Given the description of an element on the screen output the (x, y) to click on. 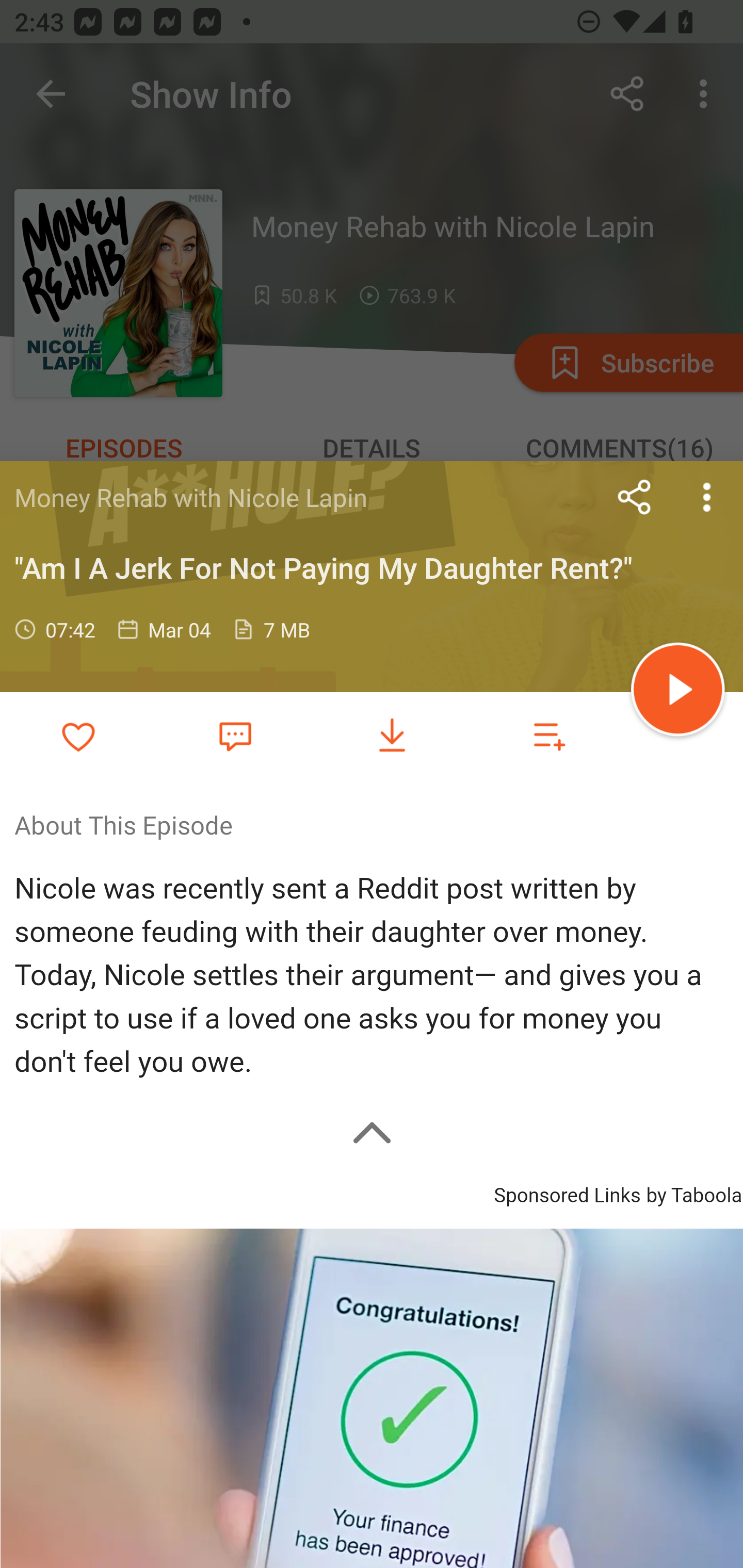
Share (634, 496)
more options (706, 496)
Play (677, 692)
Favorite (234, 735)
Add to Favorites (78, 735)
Download (391, 735)
Add to playlist (548, 735)
Sponsored Links (566, 1193)
by Taboola (693, 1193)
Need Cash? Secure Personal Loans Instantly (371, 1397)
